Given the description of an element on the screen output the (x, y) to click on. 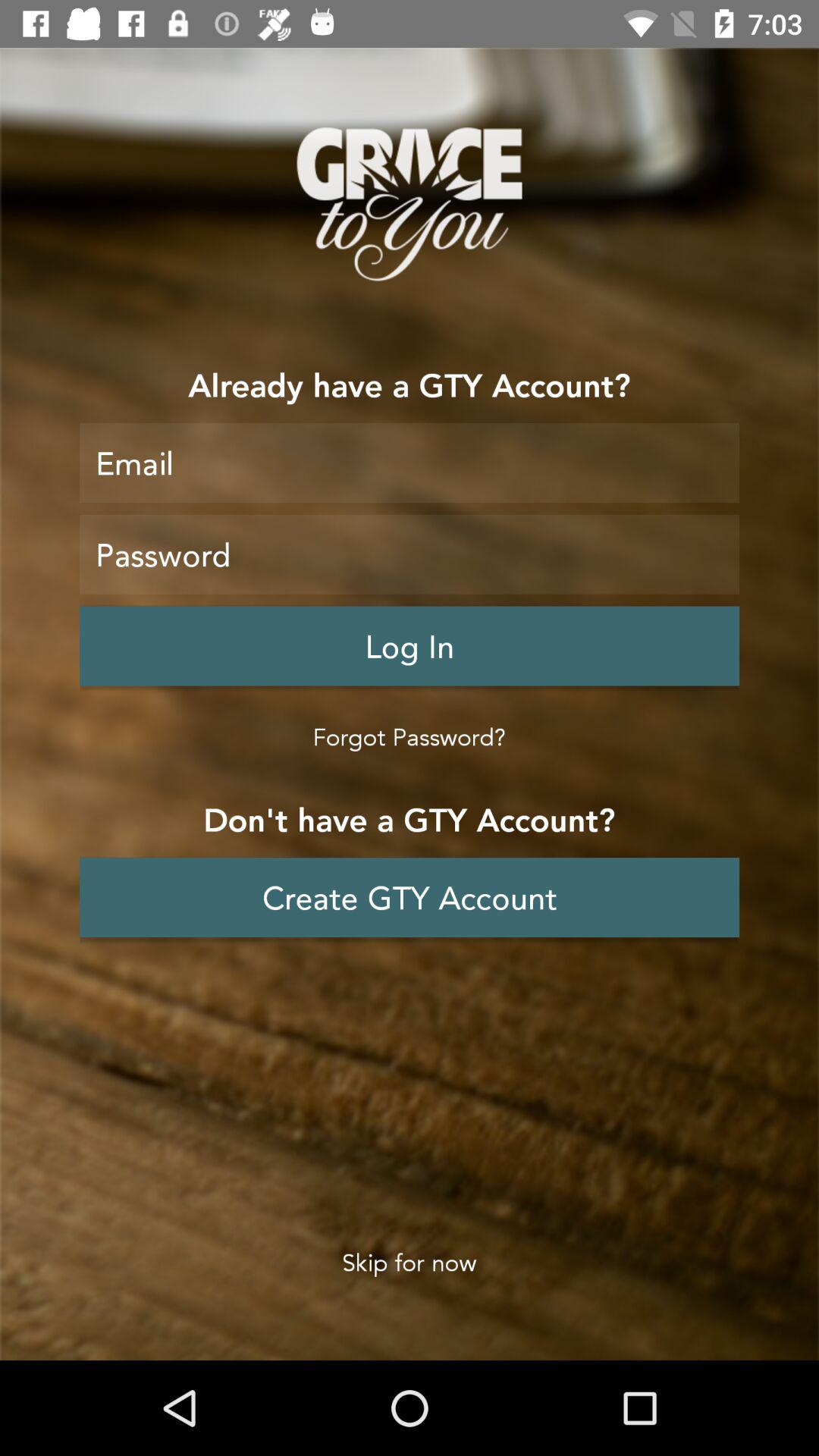
password enter area (409, 554)
